Given the description of an element on the screen output the (x, y) to click on. 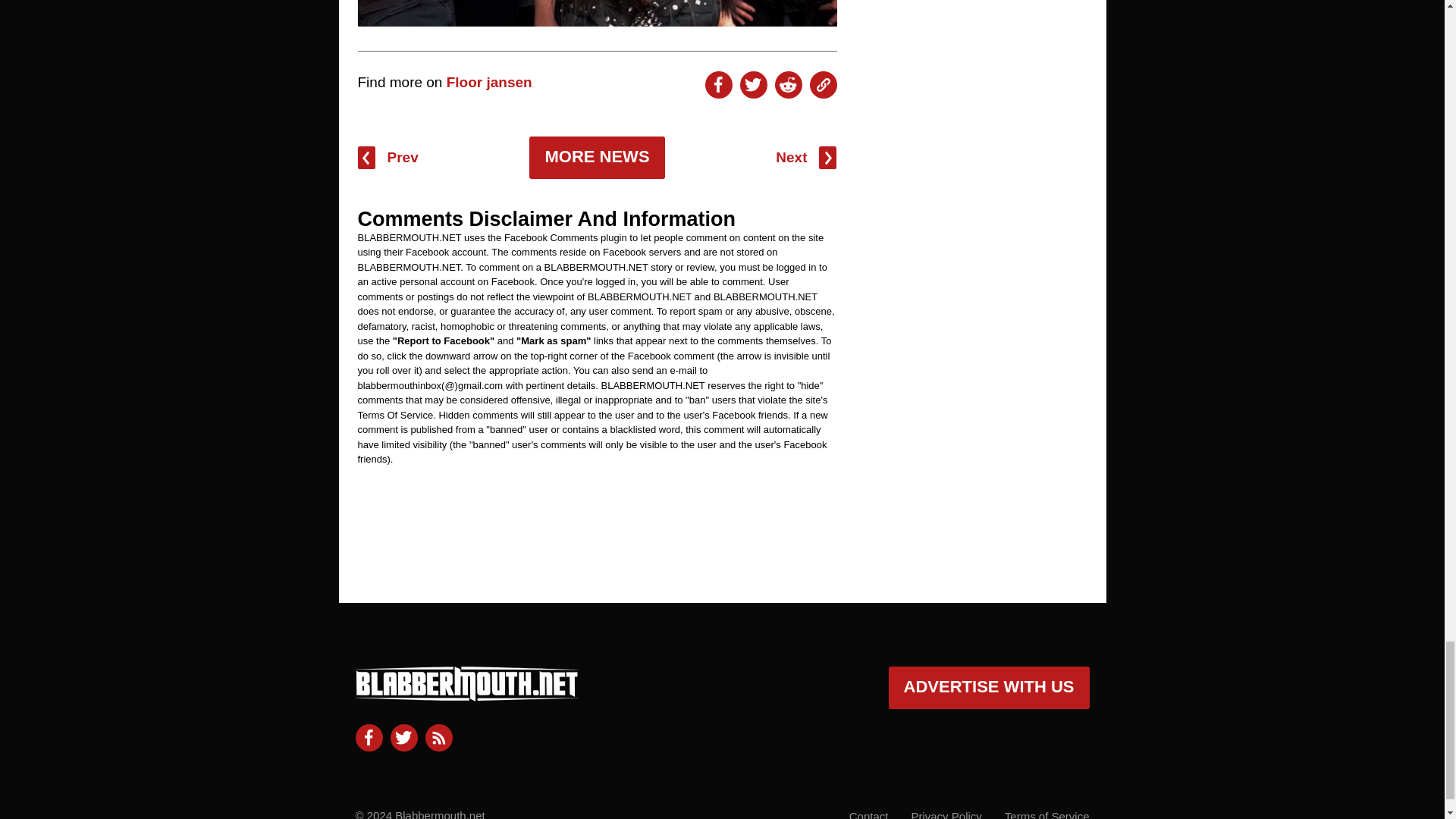
Copy To Clipboard (823, 84)
Share On Facebook (718, 84)
MORE NEWS (596, 157)
Prev (388, 157)
Share On Twitter (753, 84)
Next (805, 157)
Floor jansen (489, 82)
Share On Reddit (788, 84)
blabbermouth (466, 694)
